Given the description of an element on the screen output the (x, y) to click on. 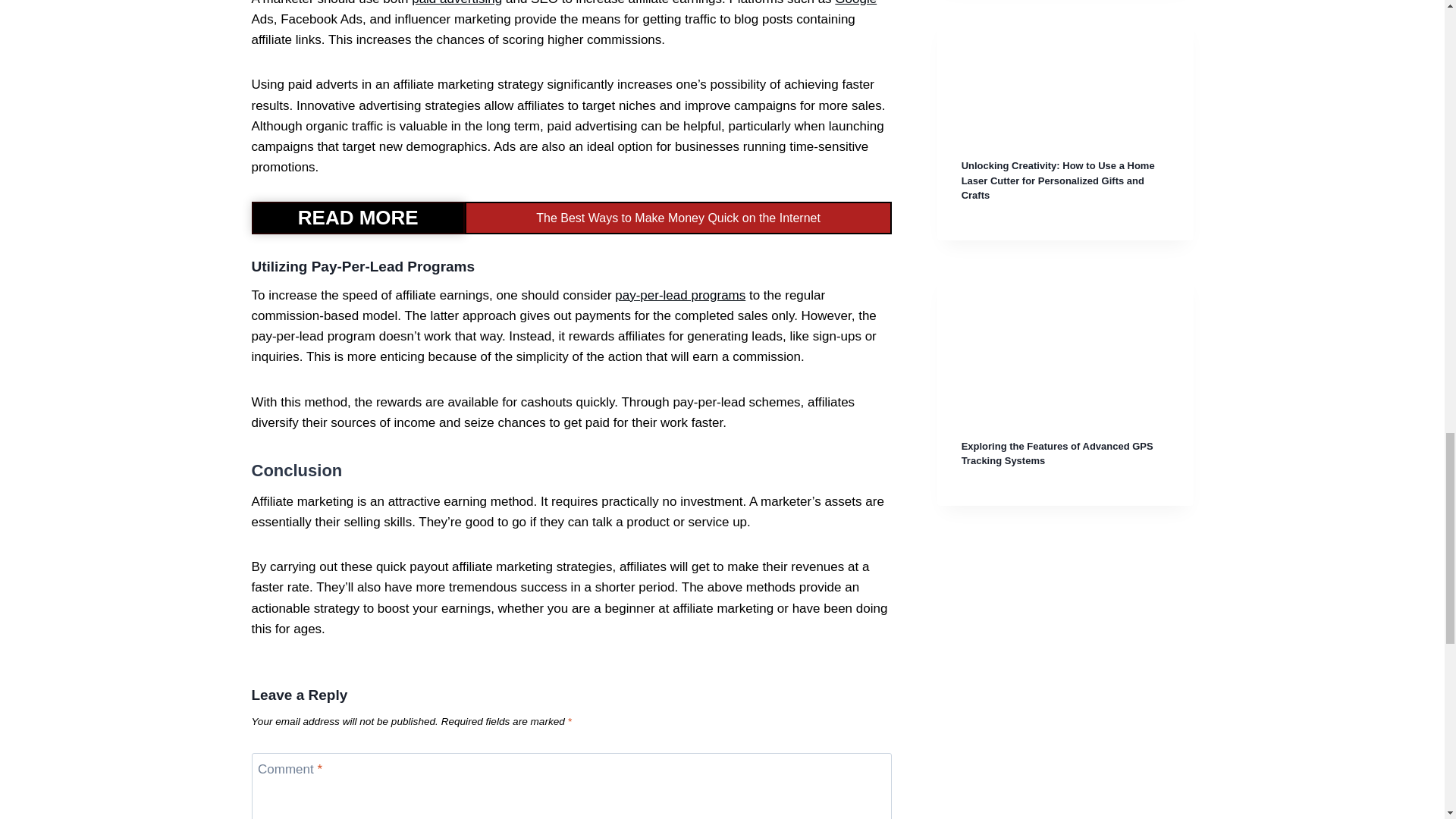
paid advertising (457, 2)
pay-per-lead programs (679, 295)
The Best Ways to Make Money Quick on the Internet (678, 217)
Google (855, 2)
